Given the description of an element on the screen output the (x, y) to click on. 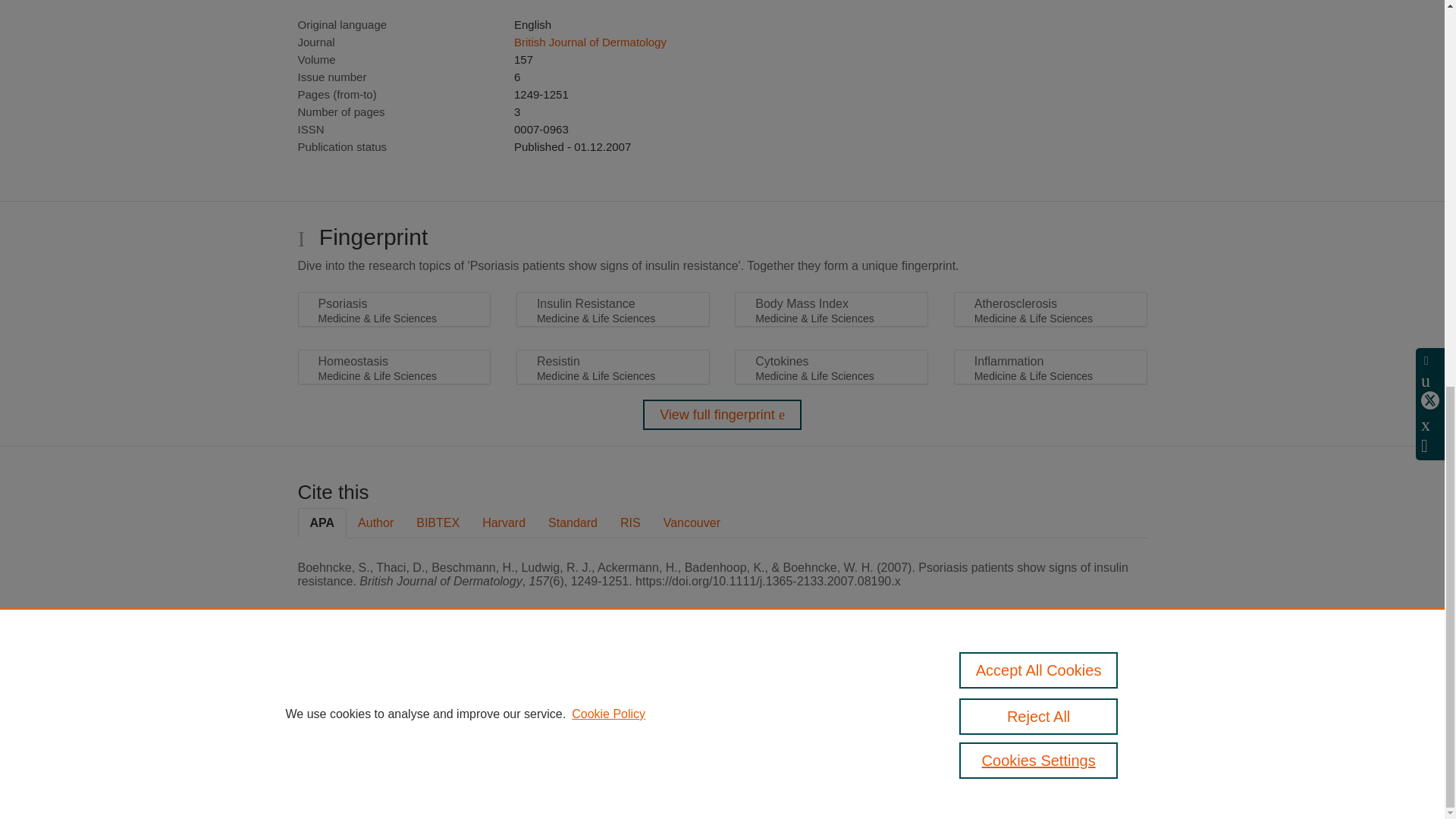
British Journal of Dermatology (589, 42)
View full fingerprint (722, 414)
